Given the description of an element on the screen output the (x, y) to click on. 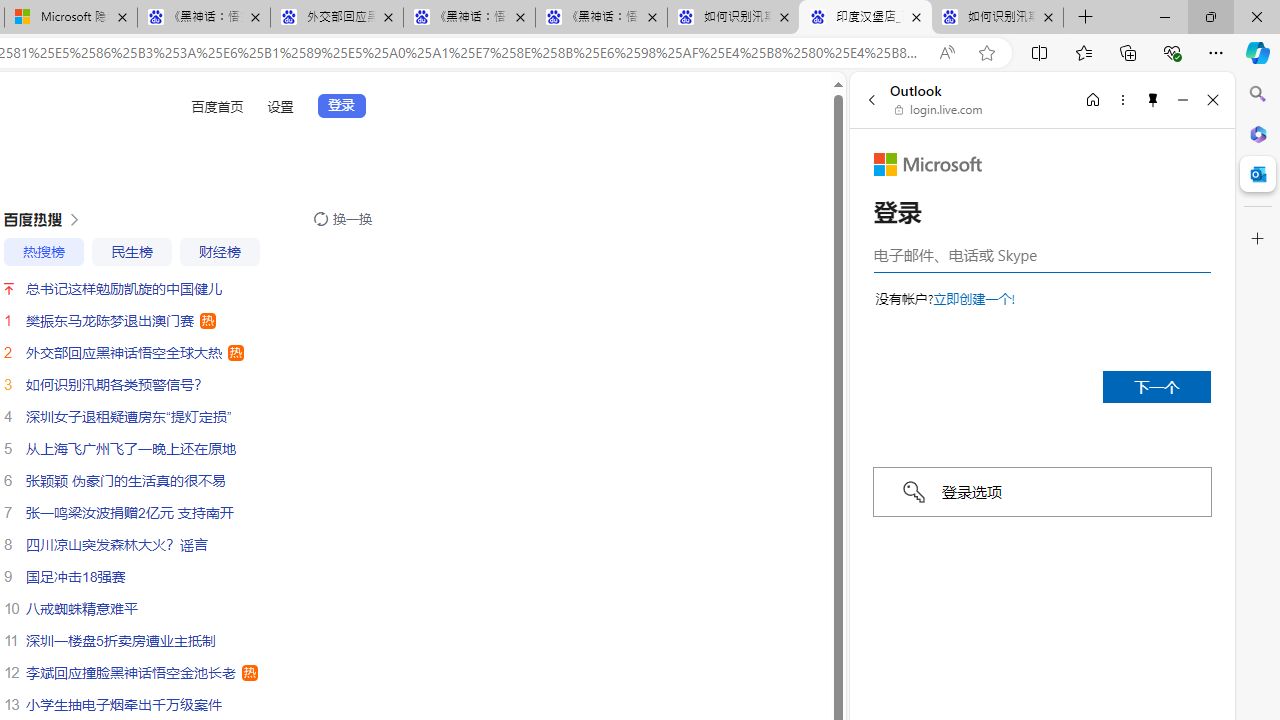
Microsoft (927, 164)
Unpin side pane (1153, 99)
